Given the description of an element on the screen output the (x, y) to click on. 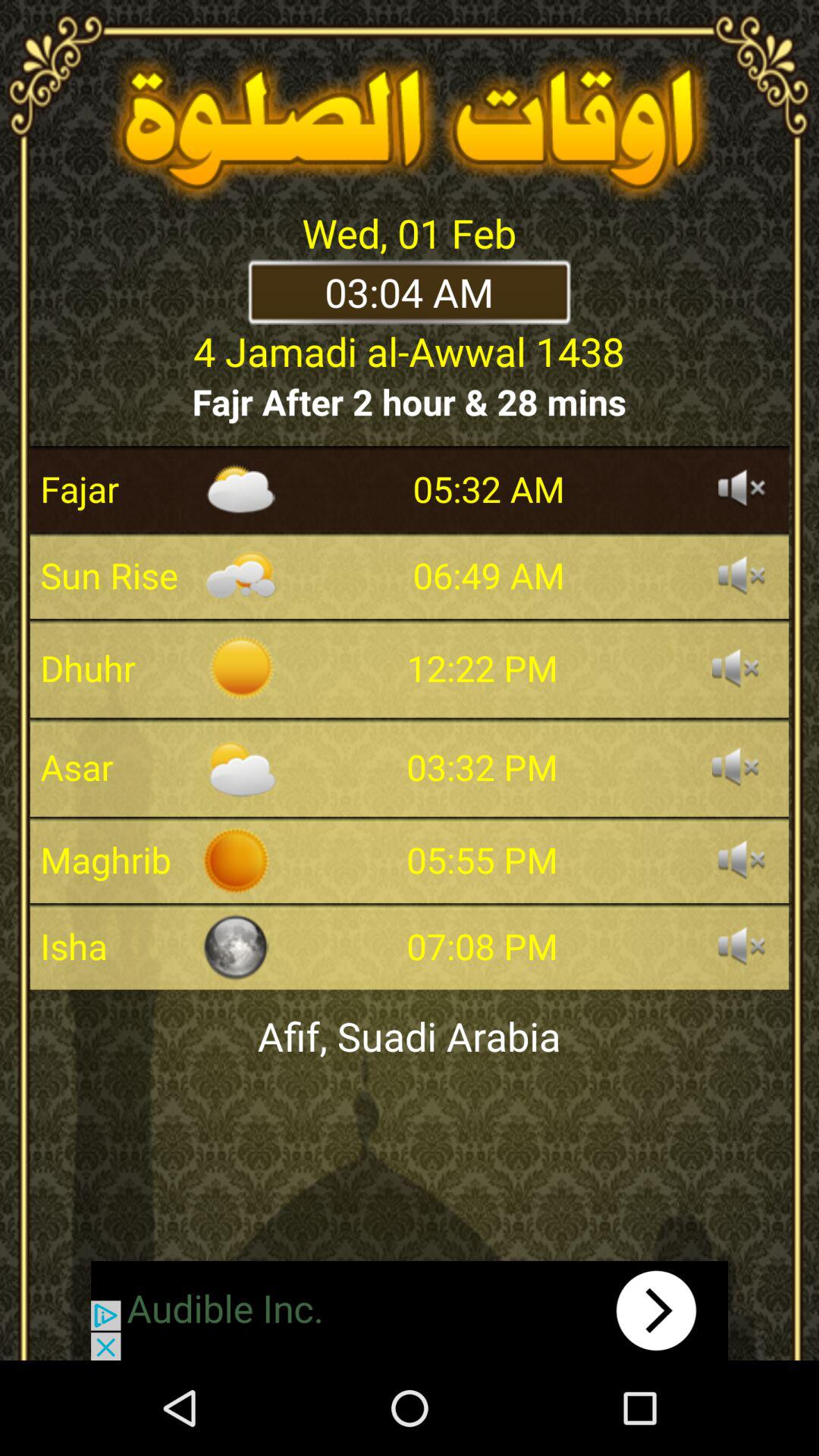
mute audio (741, 859)
